Given the description of an element on the screen output the (x, y) to click on. 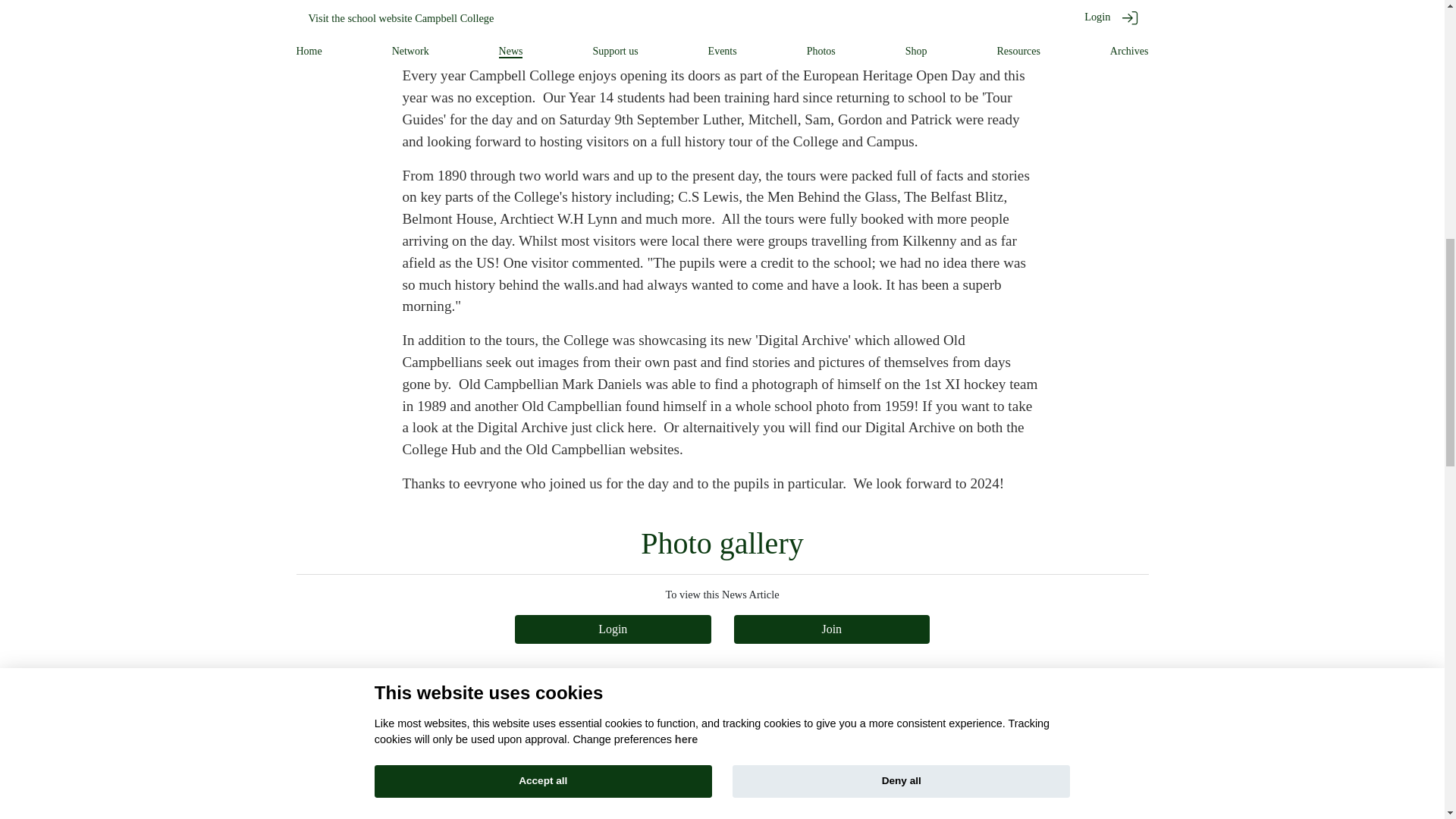
here (639, 426)
More... (1000, 775)
